Given the description of an element on the screen output the (x, y) to click on. 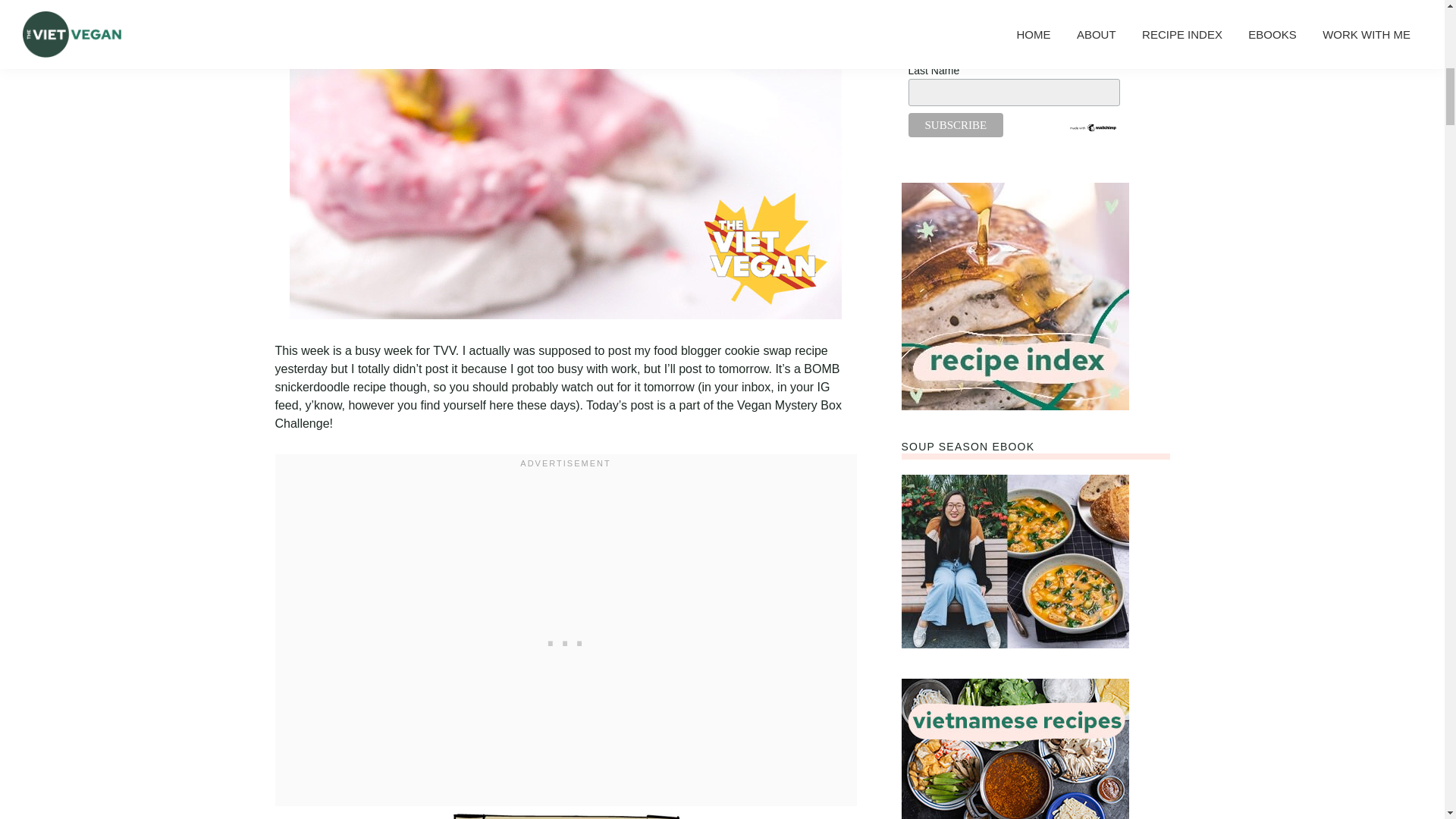
Subscribe (956, 125)
Mailchimp - email marketing made easy and fun (1093, 128)
